Given the description of an element on the screen output the (x, y) to click on. 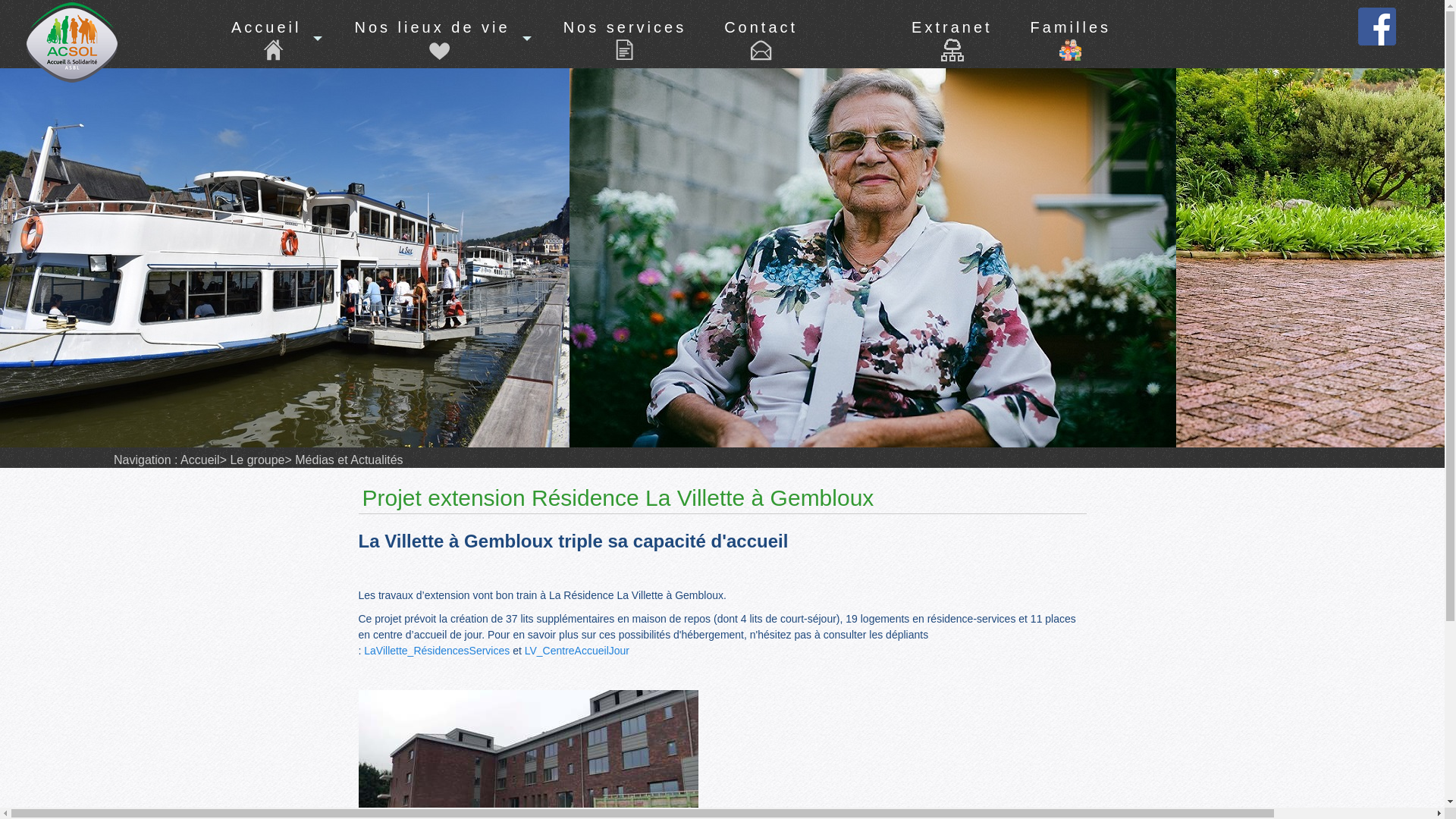
Nos services Element type: text (624, 49)
LV_CentreAccueilJour Element type: text (576, 650)
Nos lieux de vie Element type: text (439, 49)
Extranet Element type: text (951, 34)
Le groupe Element type: text (255, 459)
Accueil Element type: text (199, 459)
Contact Element type: text (760, 49)
Accueil Element type: text (273, 49)
Familles Element type: text (1070, 34)
